Given the description of an element on the screen output the (x, y) to click on. 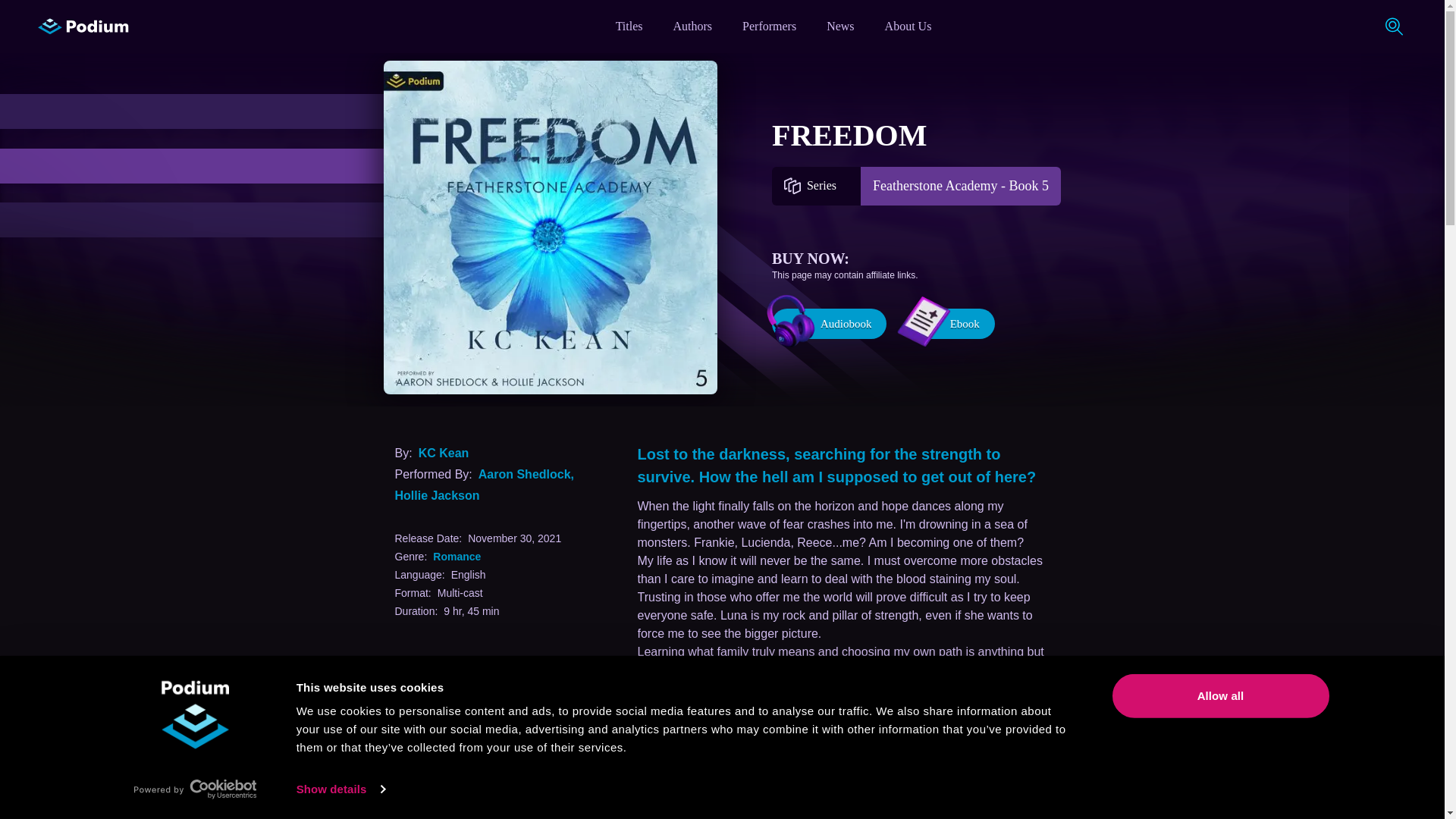
Show details (340, 789)
